Given the description of an element on the screen output the (x, y) to click on. 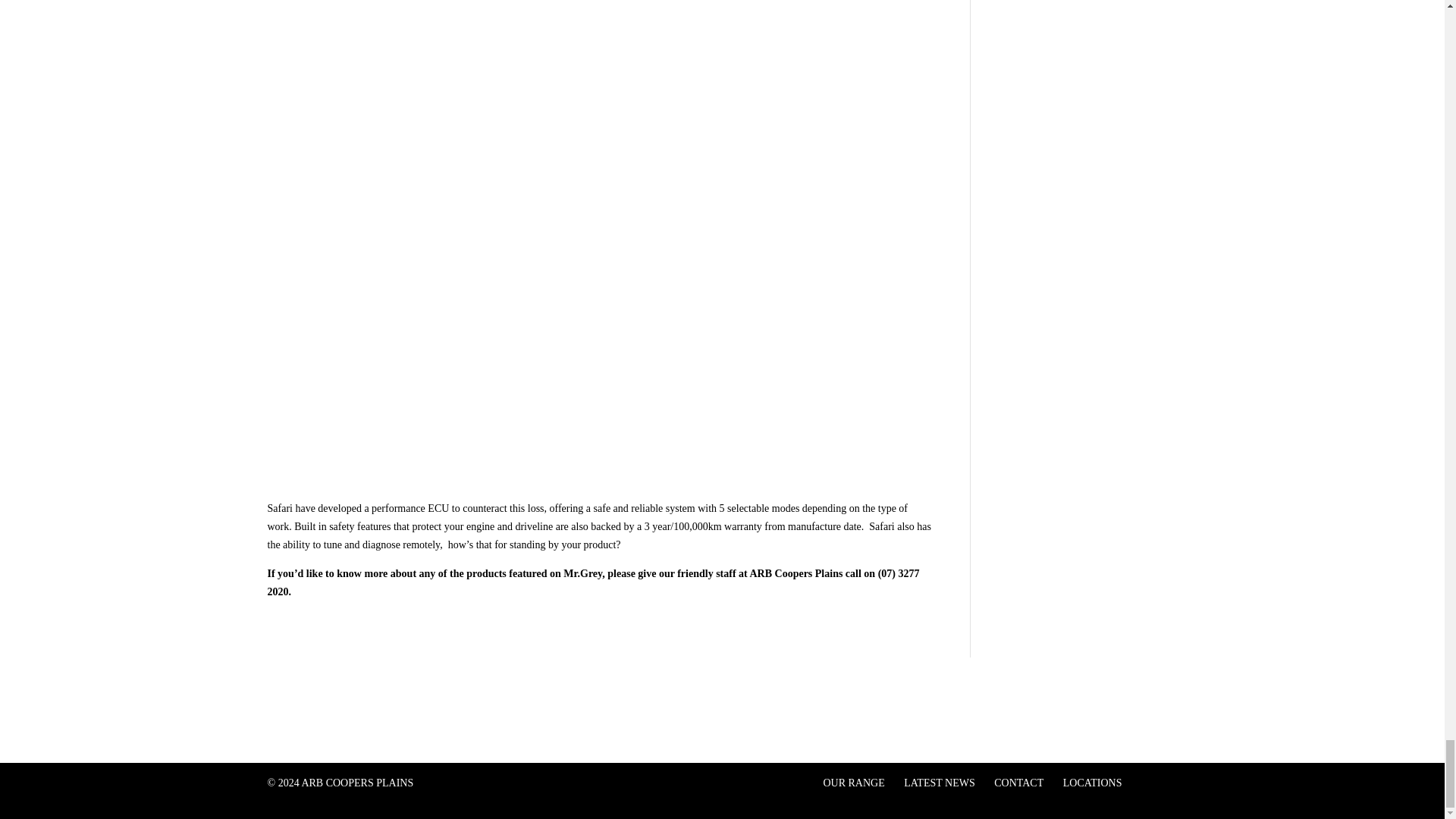
LATEST NEWS (939, 782)
OUR RANGE (852, 782)
LOCATIONS (1092, 782)
CONTACT (1018, 782)
